Given the description of an element on the screen output the (x, y) to click on. 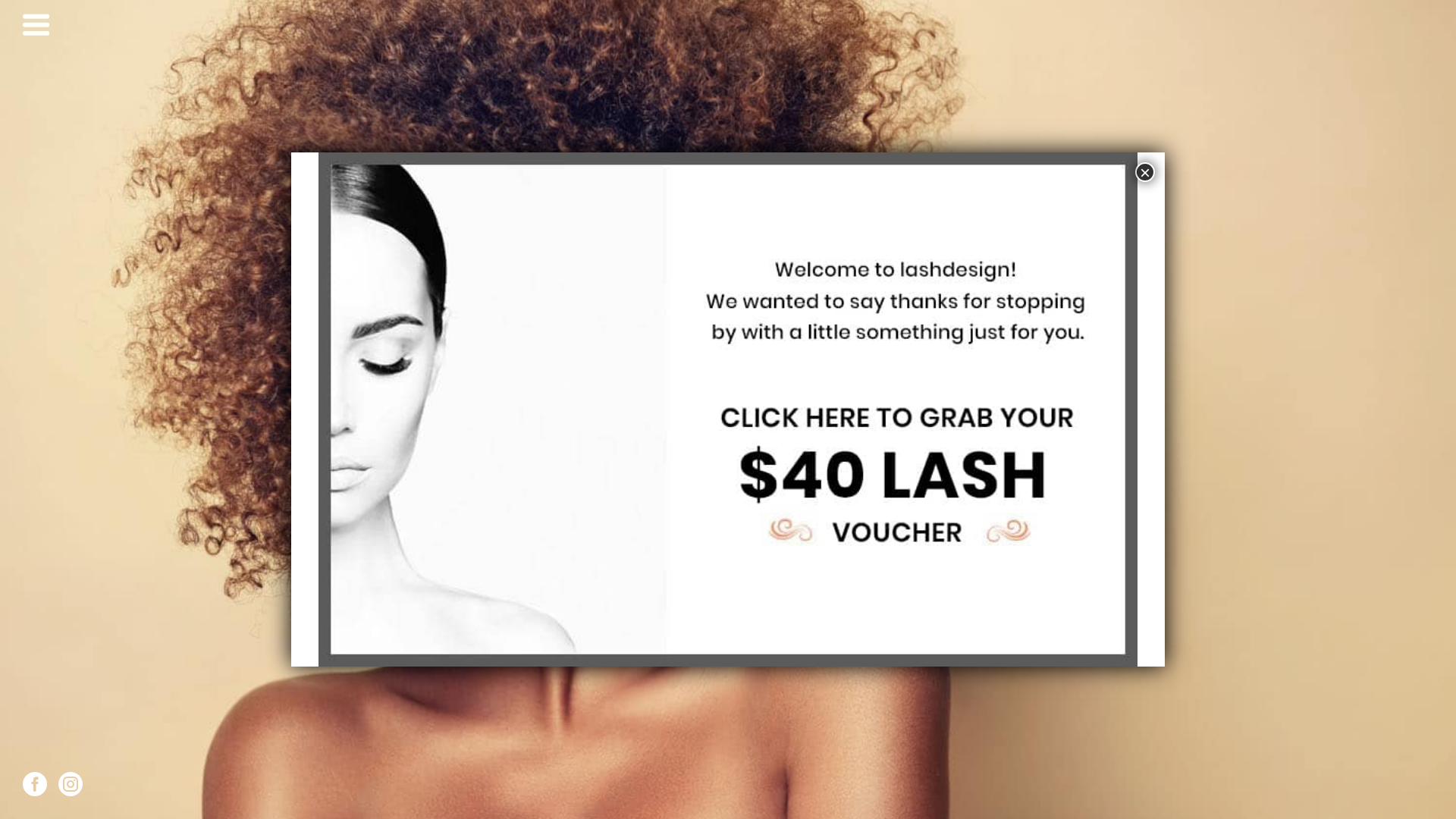
GALLERY Element type: text (937, 361)
TREATMENT MENU Element type: text (970, 209)
PROMOTIONS Element type: text (954, 310)
ABOUT US Element type: text (940, 259)
pop-up-new-1 Element type: hover (727, 409)
menu-icon Element type: hover (35, 24)
BOOK NOW Element type: text (946, 412)
